Given the description of an element on the screen output the (x, y) to click on. 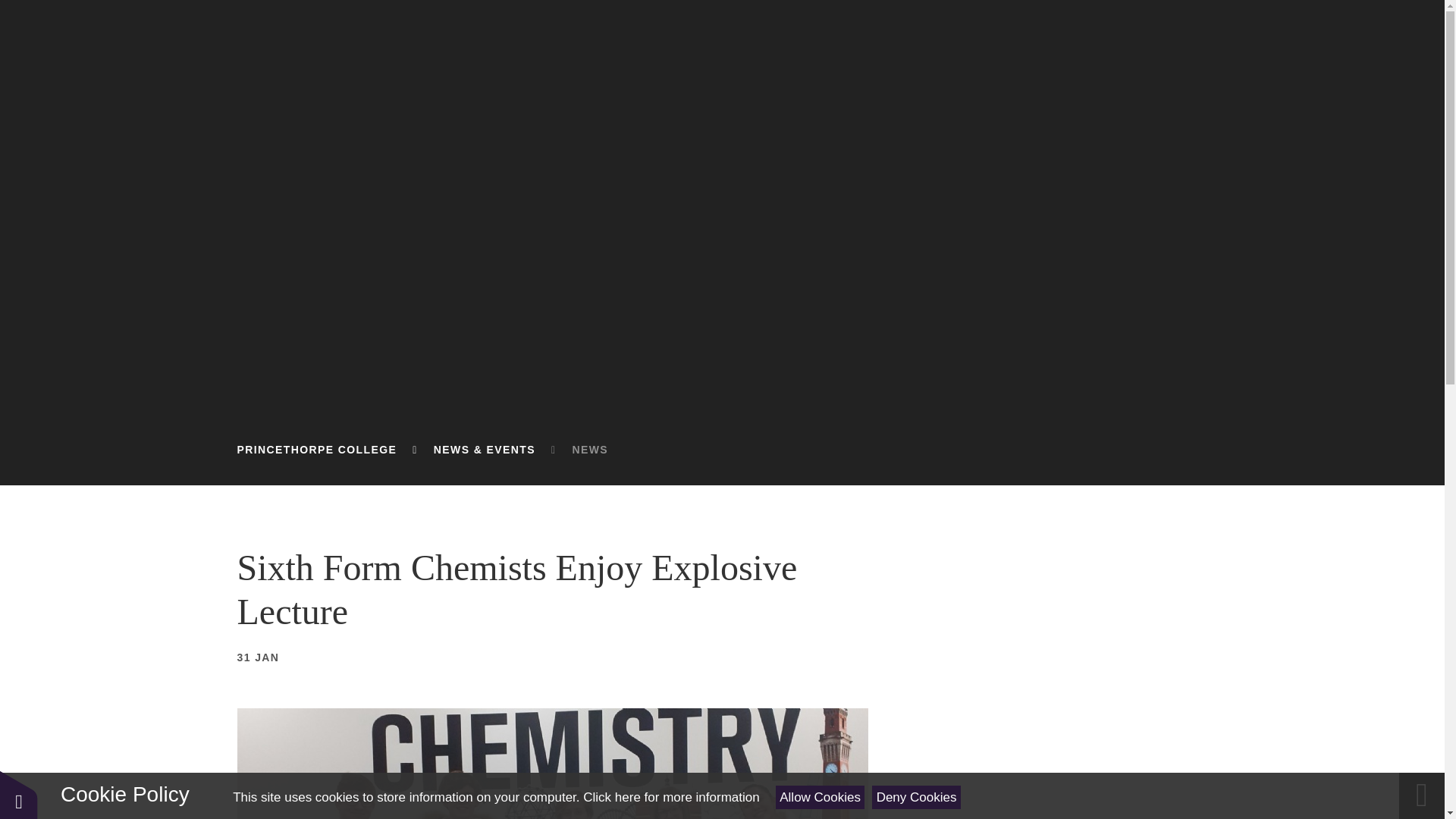
See cookie policy (670, 797)
Allow Cookies (820, 797)
Deny Cookies (915, 797)
